Given the description of an element on the screen output the (x, y) to click on. 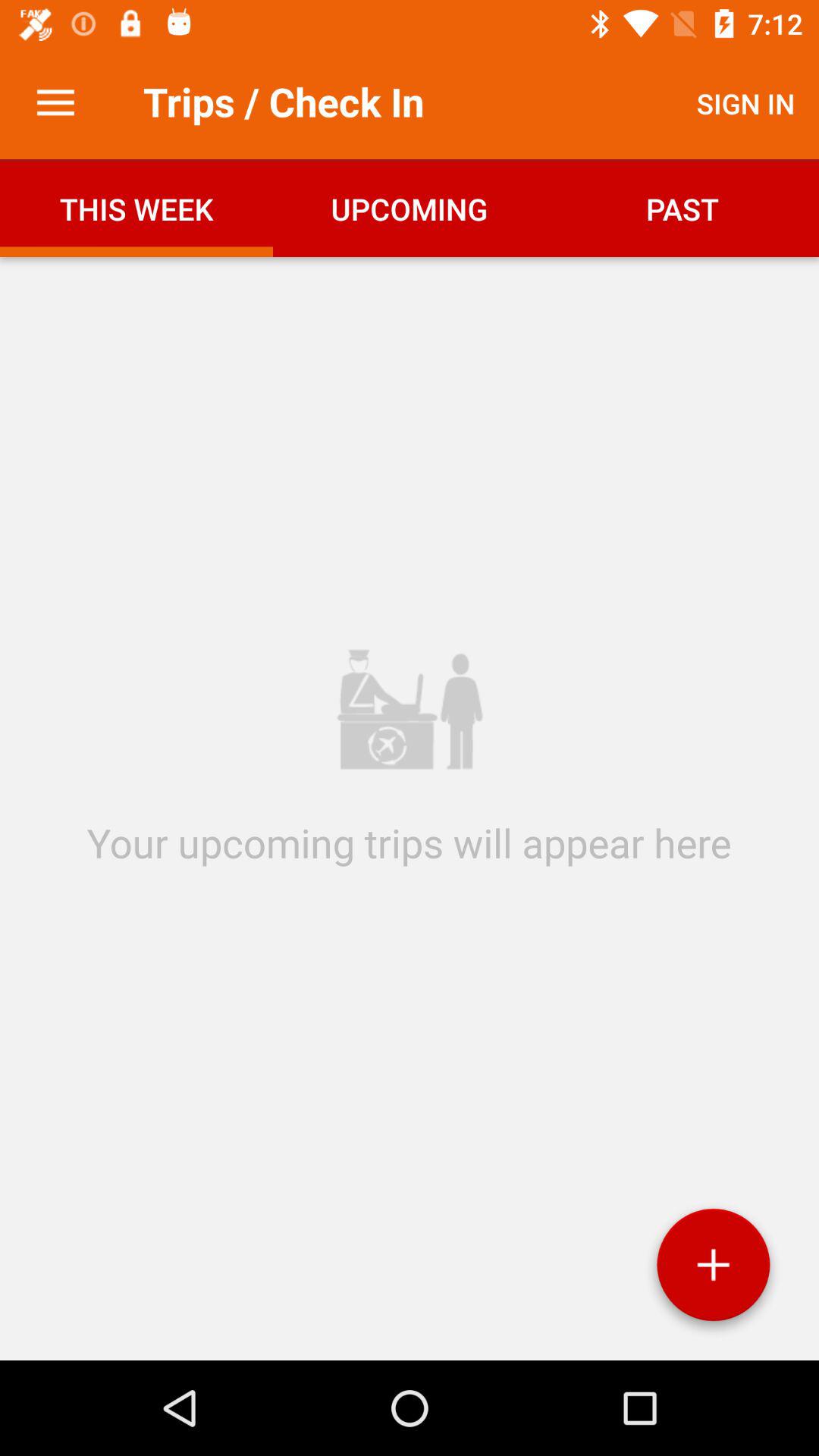
flip to the sign in icon (745, 103)
